Given the description of an element on the screen output the (x, y) to click on. 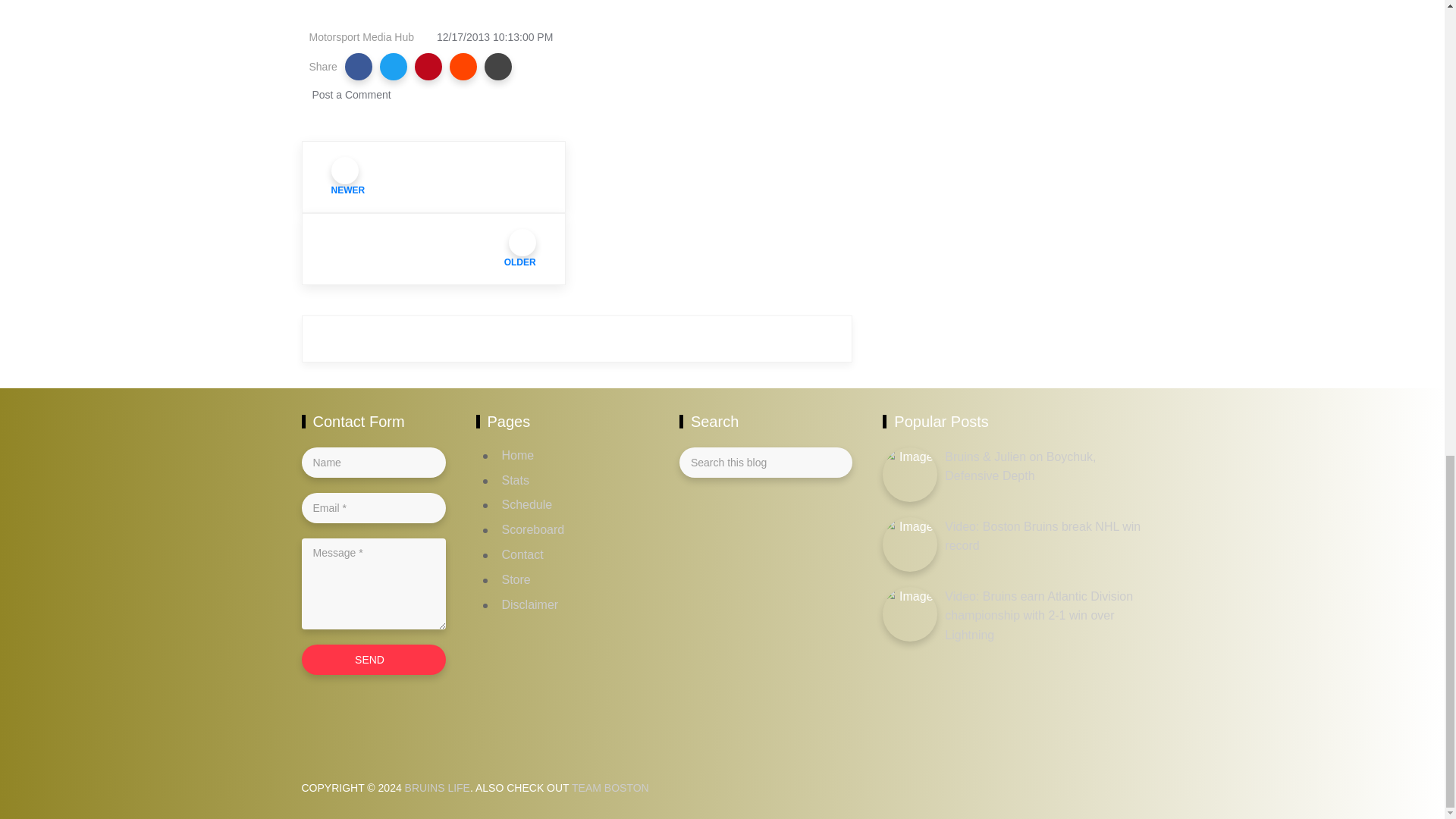
Store (516, 579)
Schedule (527, 504)
Scoreboard (533, 529)
Share to Reddit (463, 66)
Disclaimer (530, 604)
OLDER (433, 248)
Post a Comment (349, 94)
Stats (515, 480)
Share to Twitter (393, 66)
Email Post (498, 66)
